Given the description of an element on the screen output the (x, y) to click on. 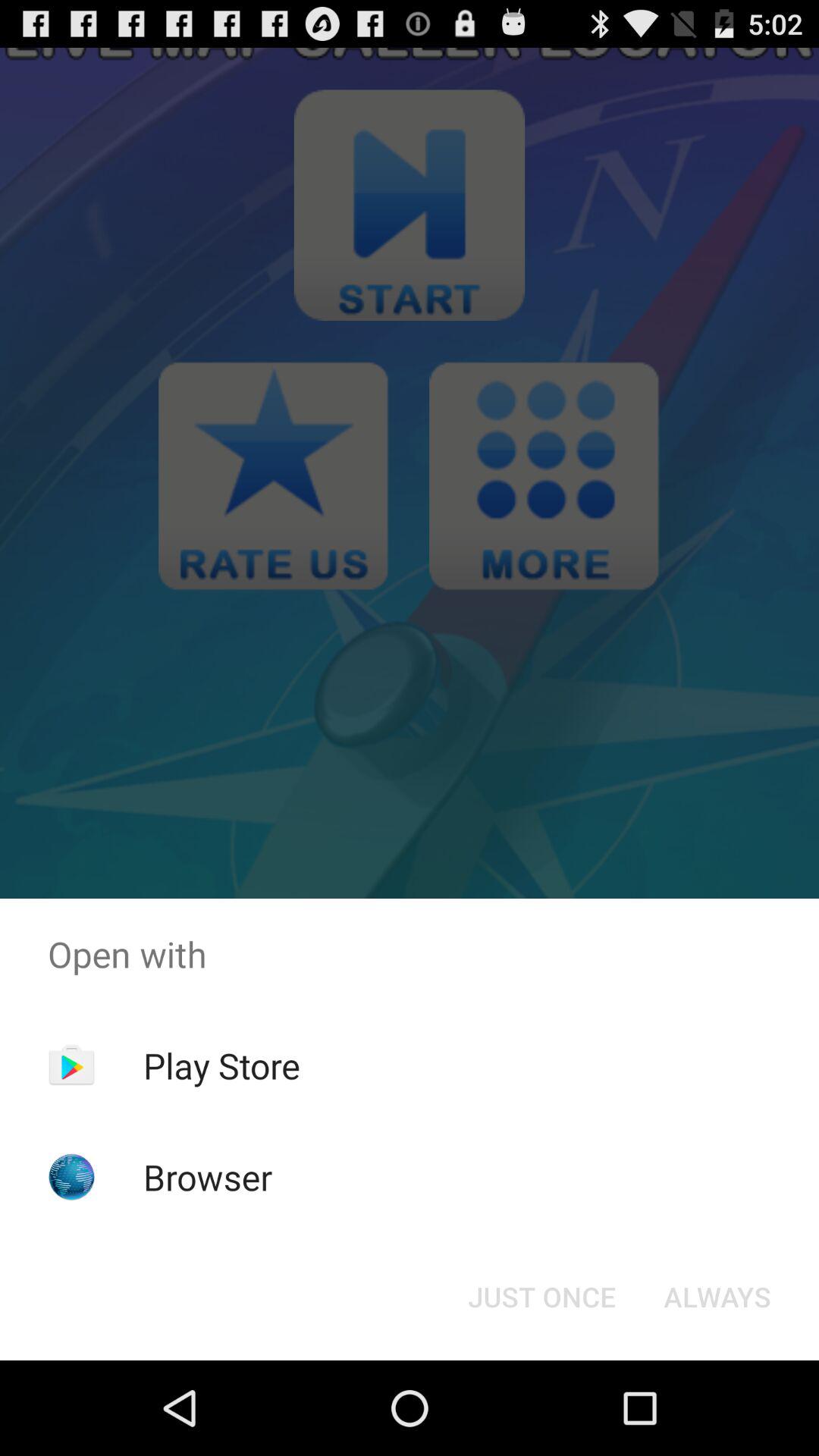
press the always at the bottom right corner (717, 1296)
